Given the description of an element on the screen output the (x, y) to click on. 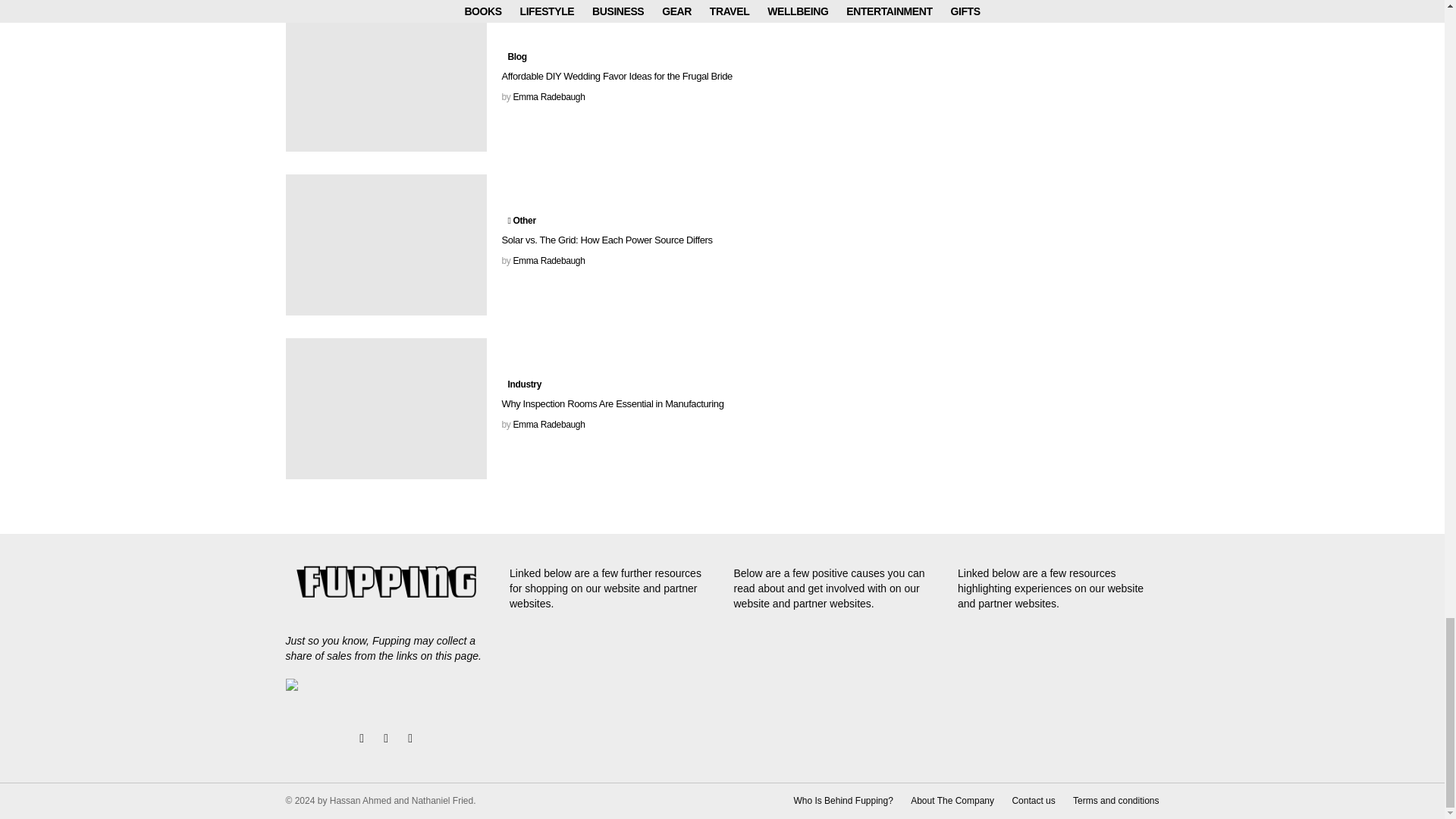
Posts by Emma Radebaugh (548, 424)
Posts by Emma Radebaugh (548, 260)
Why Inspection Rooms Are Essential in Manufacturing (385, 408)
Posts by Emma Radebaugh (548, 96)
Solar vs. The Grid: How Each Power Source Differs (385, 244)
Affordable DIY Wedding Favor Ideas for the Frugal Bride (385, 80)
